Given the description of an element on the screen output the (x, y) to click on. 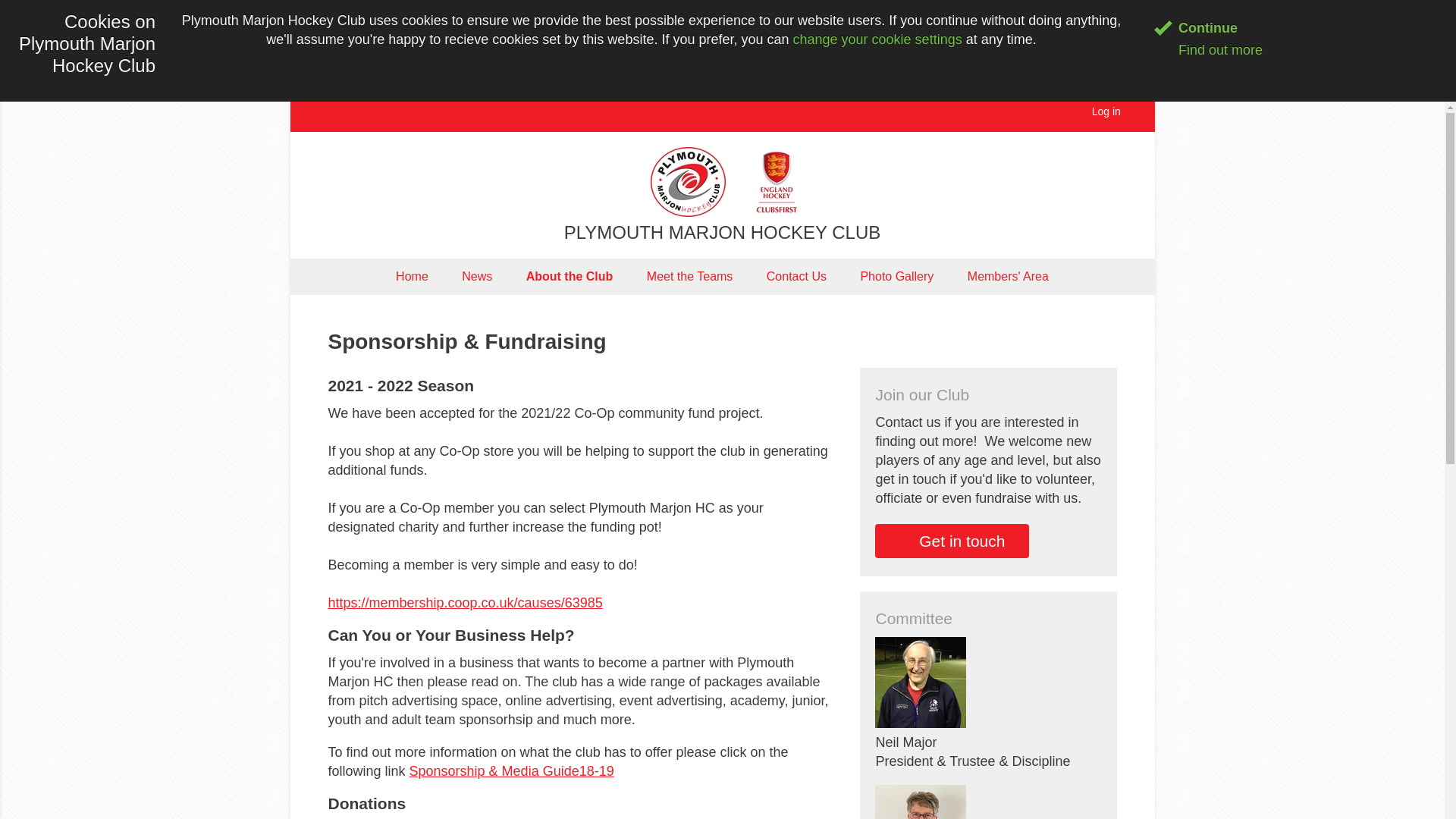
change your cookie settings (877, 38)
Continue (1195, 28)
Find out more (1208, 49)
